Given the description of an element on the screen output the (x, y) to click on. 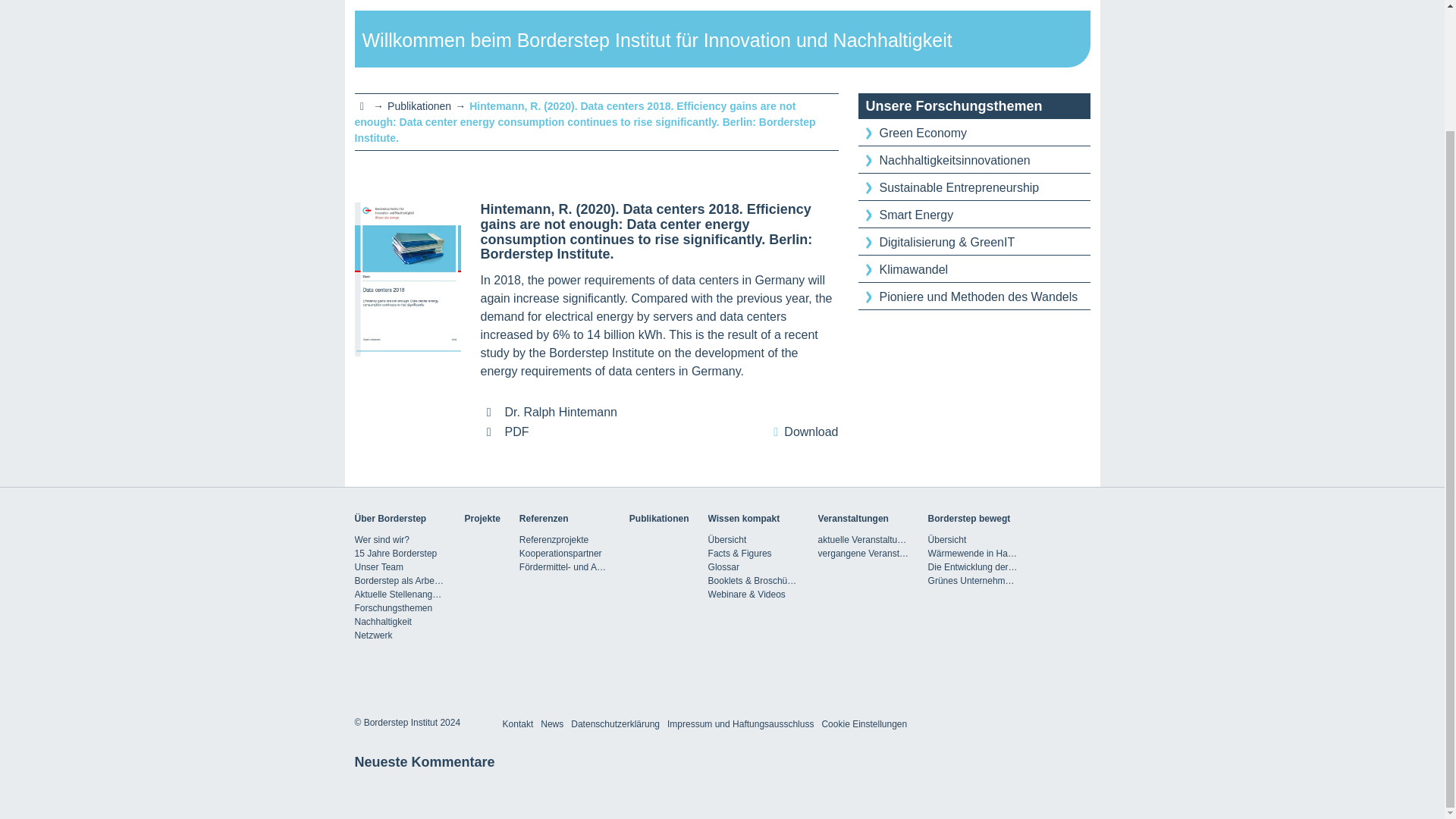
aktuelle Veranstaltungen (863, 540)
Netzwerk (400, 635)
vergangene Veranstaltungen (863, 553)
Publikationen (419, 105)
Wer sind wir? (400, 540)
Download (802, 432)
Unser Team (400, 567)
